Given the description of an element on the screen output the (x, y) to click on. 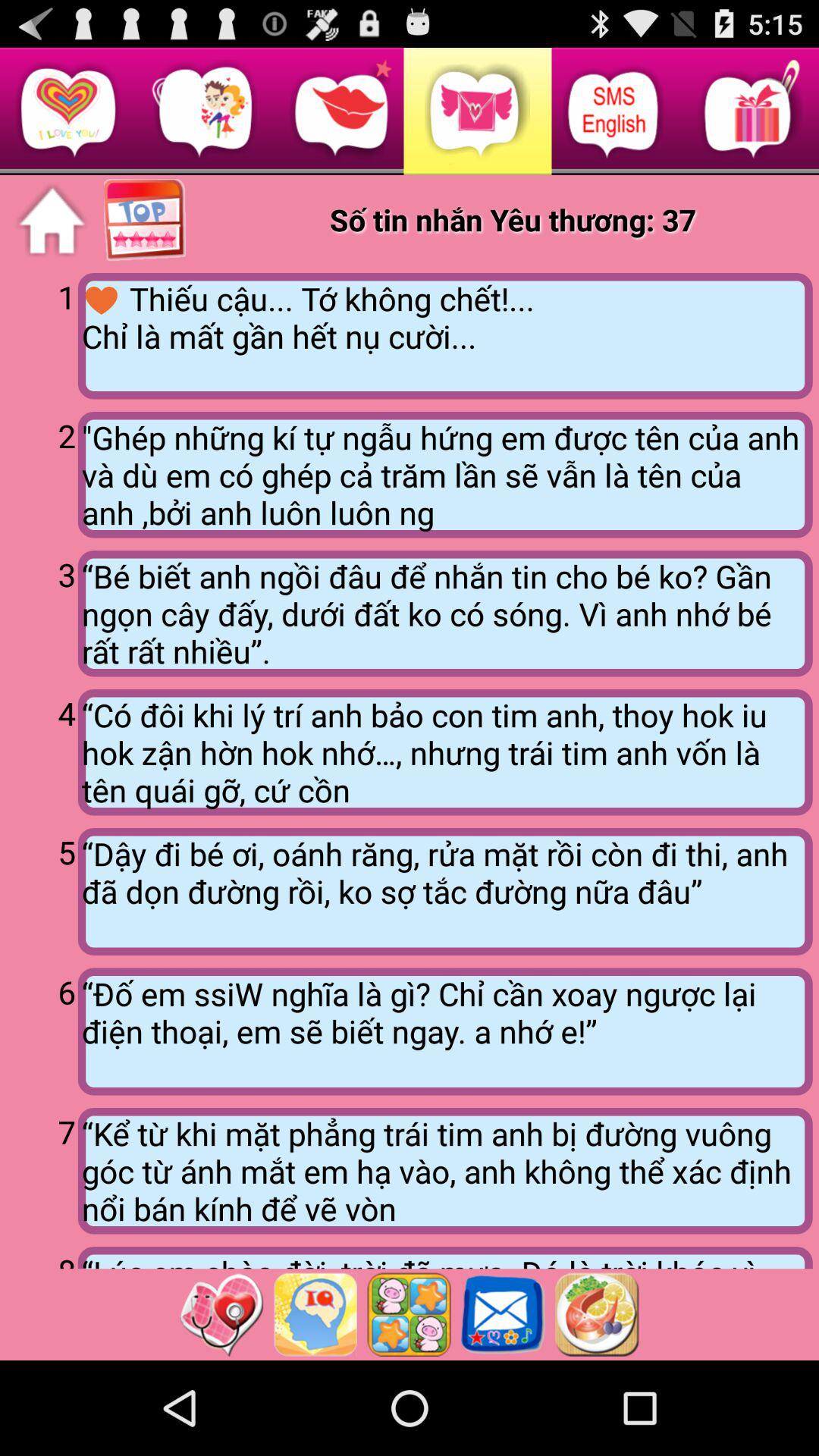
rating the star (409, 1314)
